Given the description of an element on the screen output the (x, y) to click on. 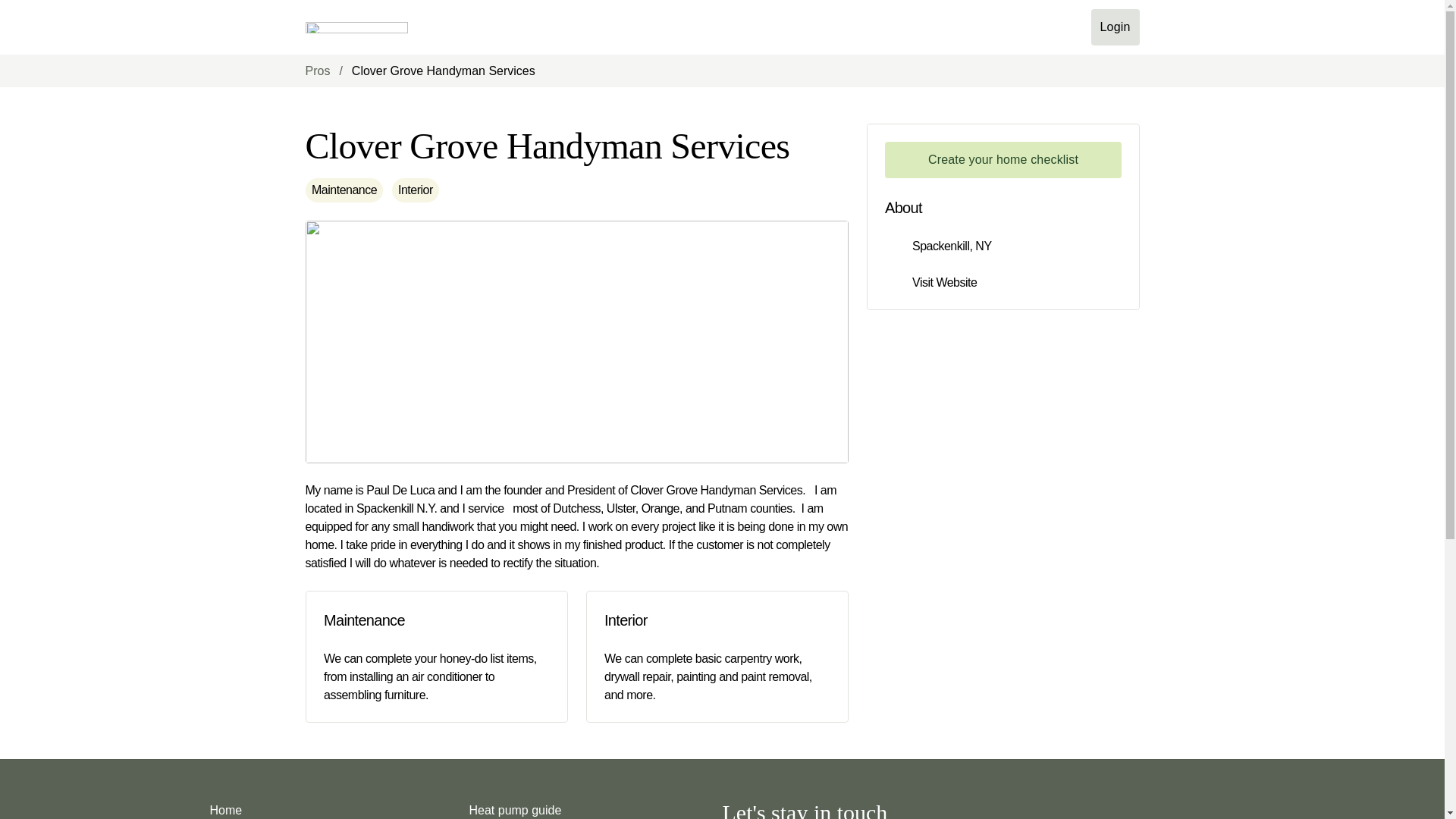
Heat pump guide (515, 807)
Pros (317, 70)
Home (225, 807)
Create your home checklist (1002, 159)
Login (1115, 27)
Visit Website (943, 282)
